Given the description of an element on the screen output the (x, y) to click on. 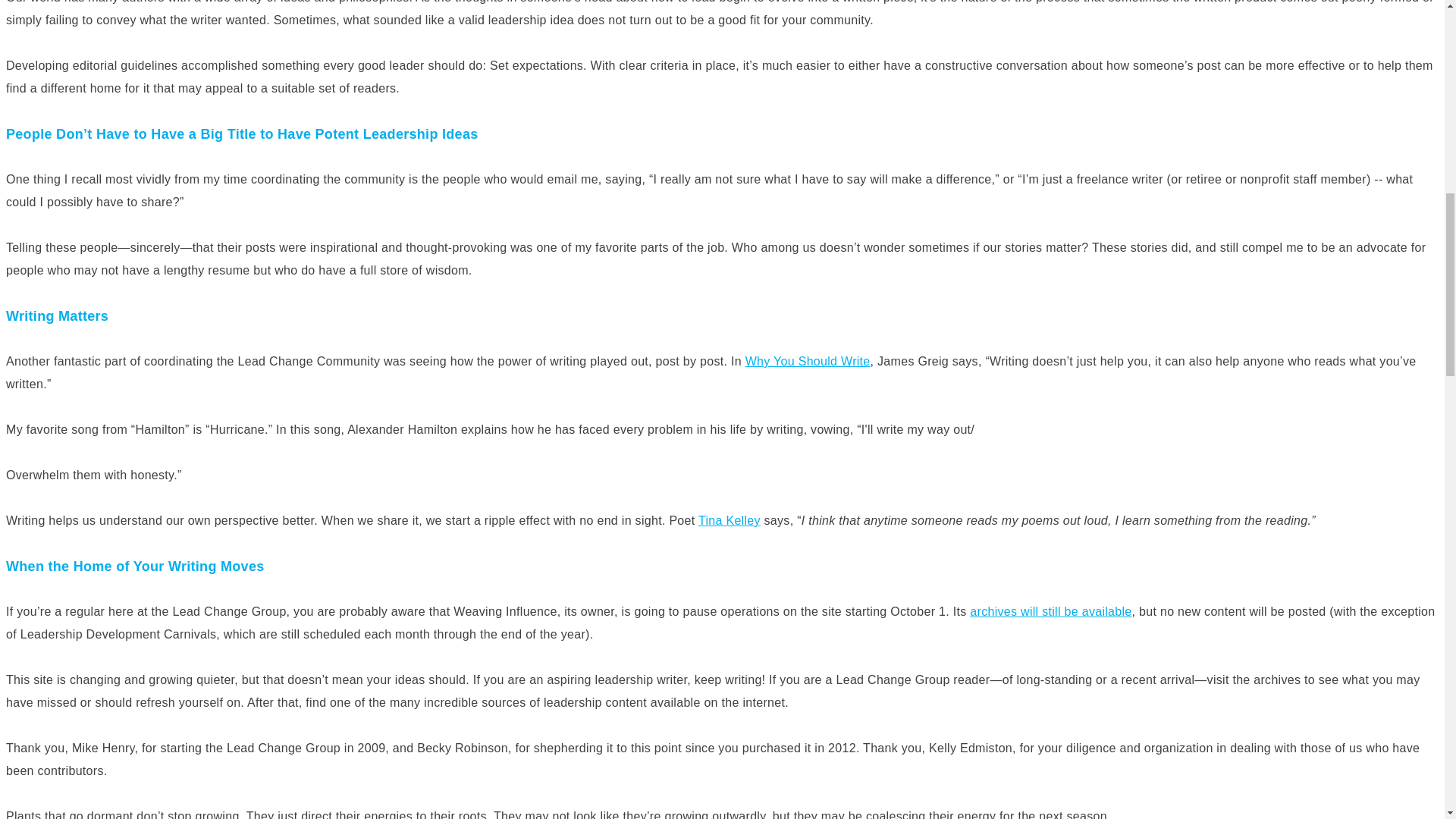
archives will still be available (1050, 611)
Why You Should Write (807, 360)
Tina Kelley (729, 520)
